Given the description of an element on the screen output the (x, y) to click on. 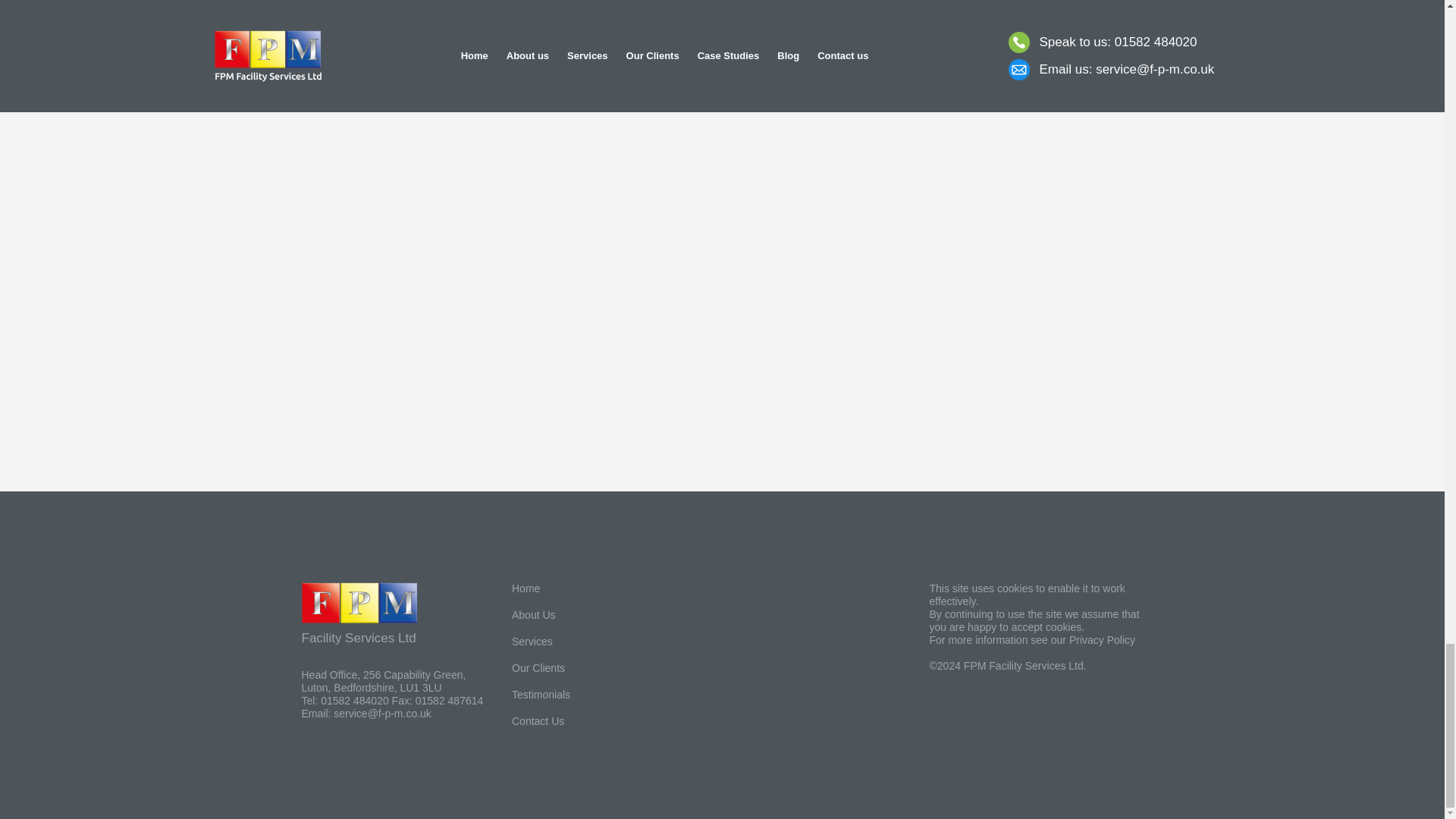
Testimonials (570, 694)
Home (570, 588)
01582 484020 (354, 700)
Our Clients (570, 667)
Services (570, 641)
Contact Us (570, 721)
Privacy Policy (1101, 639)
About Us (570, 615)
Facility Services Ltd (395, 614)
